Given the description of an element on the screen output the (x, y) to click on. 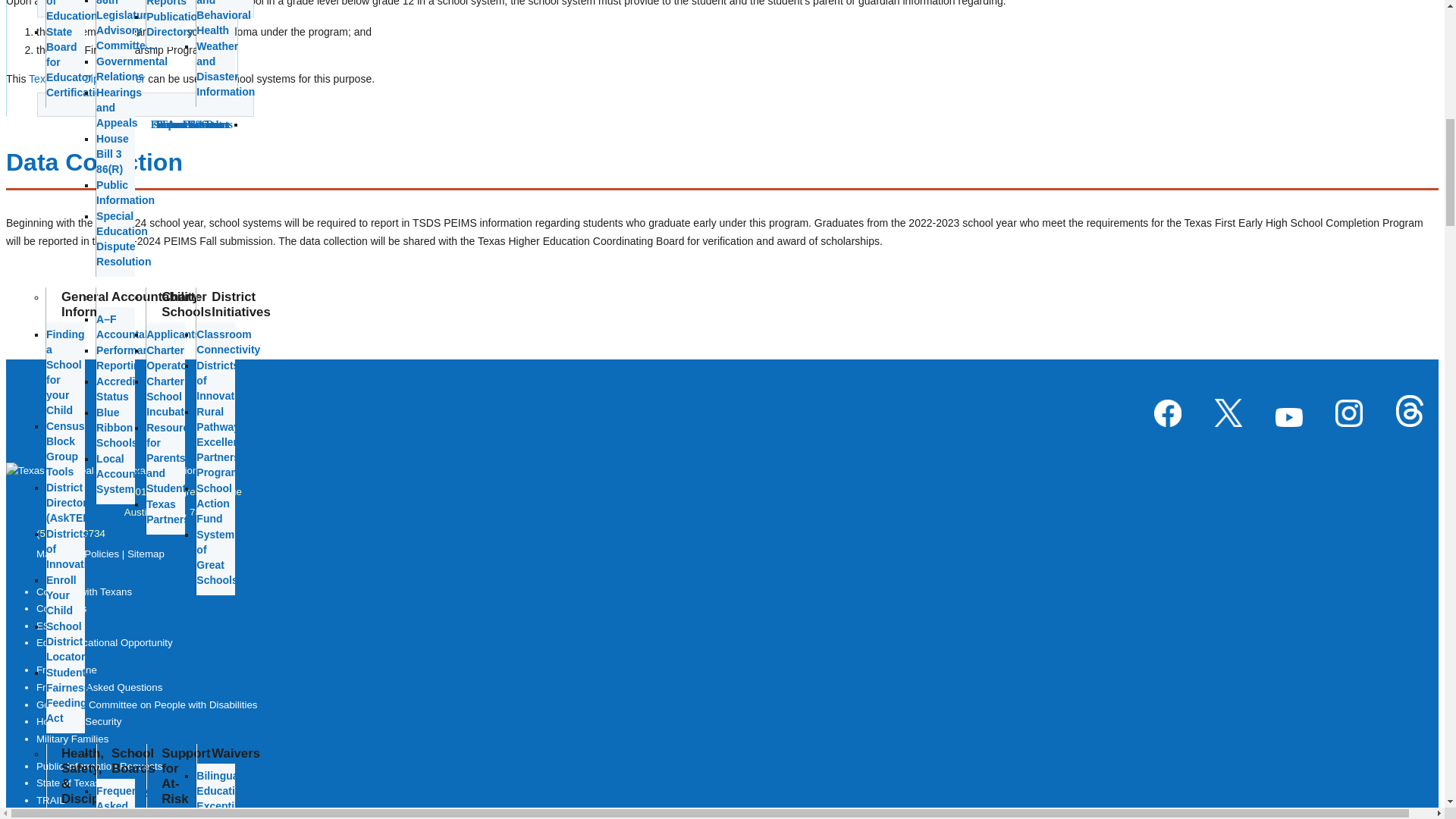
Site Policies (91, 553)
Texas State Seal (49, 470)
Sitemap (146, 553)
YouTube (1289, 419)
Texas State Seal (64, 486)
Map (46, 553)
